Given the description of an element on the screen output the (x, y) to click on. 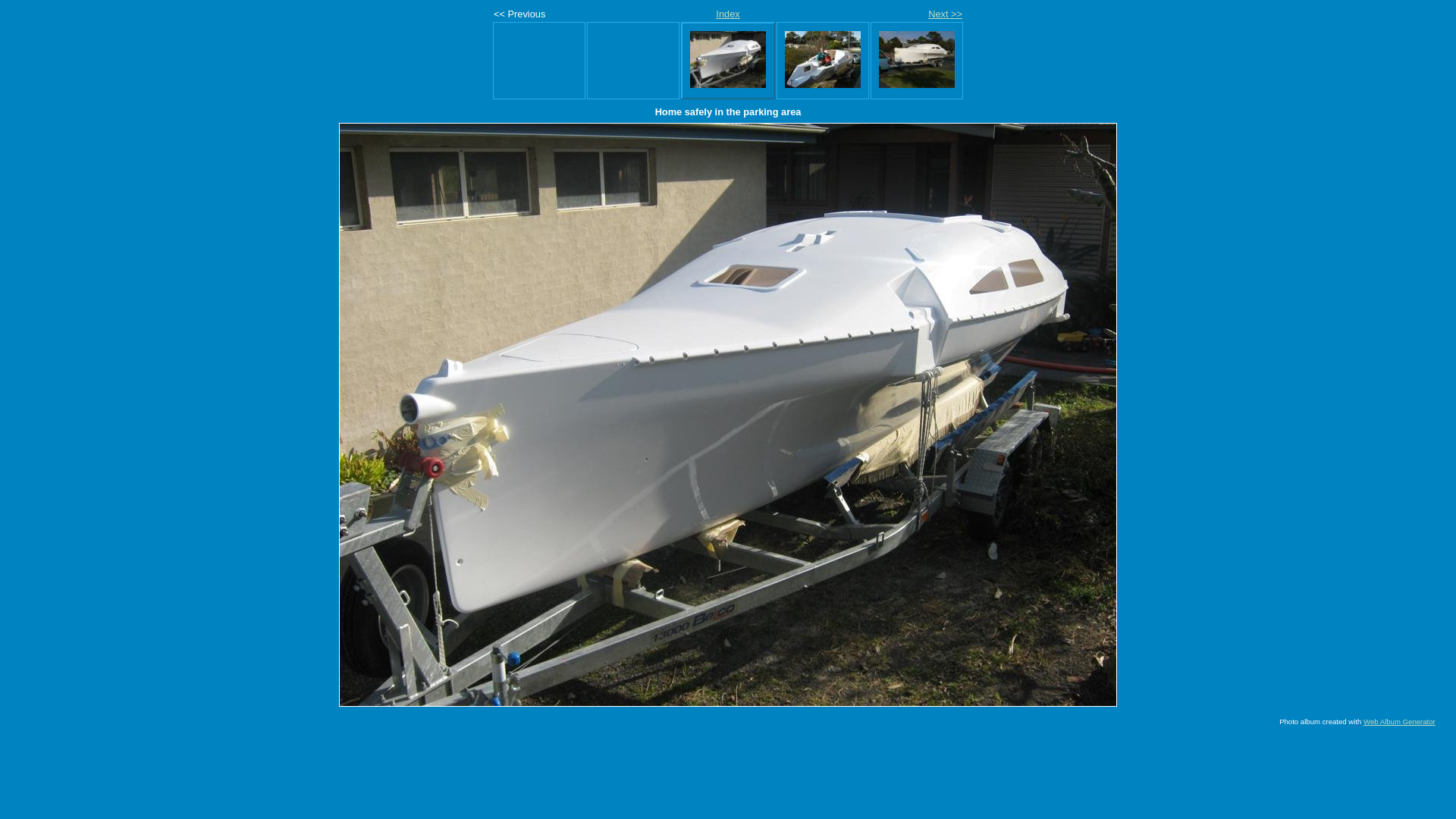
Home safely in the parking area Element type: hover (727, 59)
Web Album Generator Element type: text (1399, 721)
The crew checks out the boat Element type: hover (822, 59)
Next >> Element type: text (945, 13)
Index Element type: text (727, 13)
Home Element type: hover (916, 59)
Home safely in the parking area Element type: hover (727, 414)
